Given the description of an element on the screen output the (x, y) to click on. 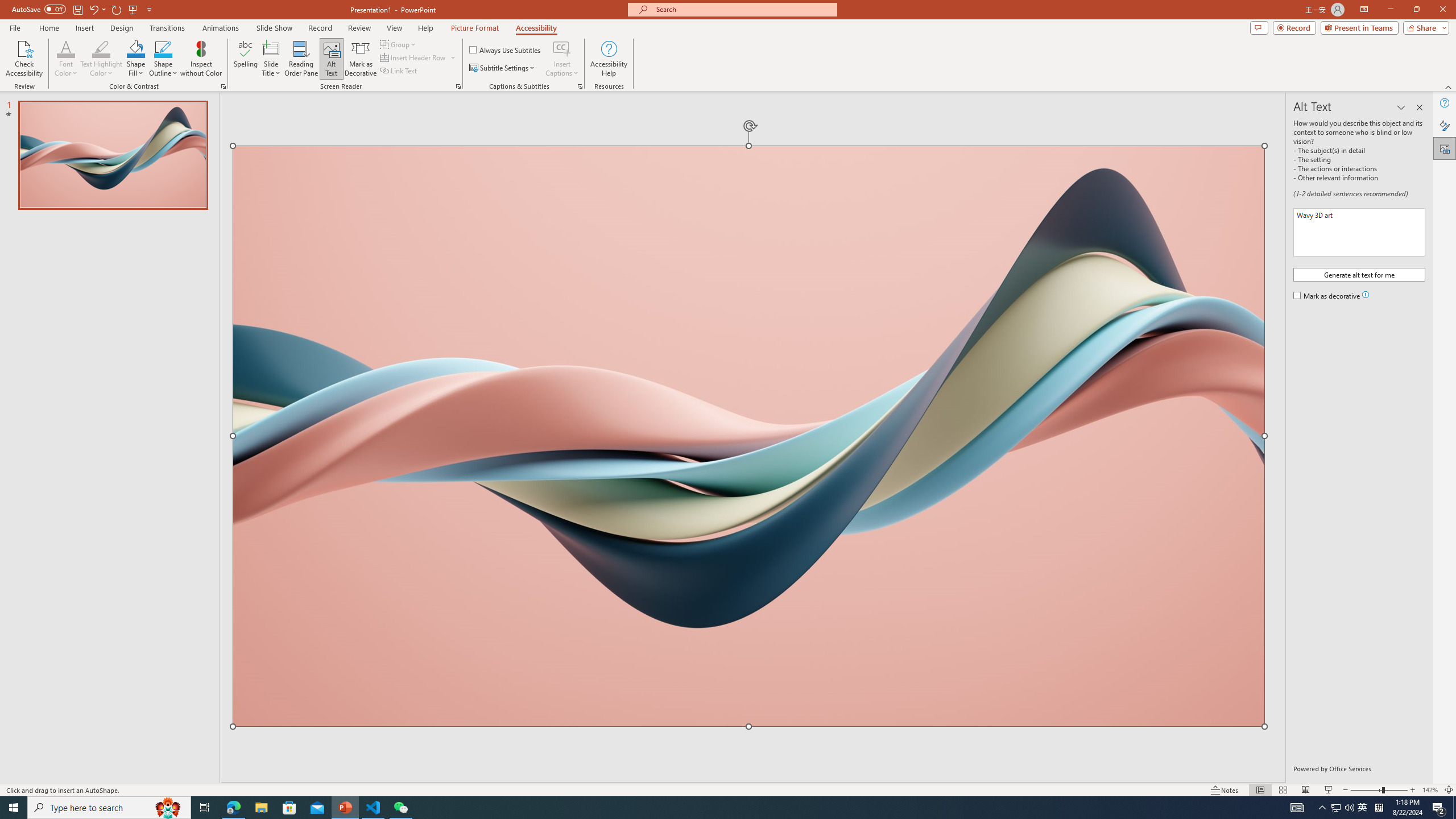
Captions & Subtitles (580, 85)
Wavy 3D art (747, 435)
Mark as decorative (1327, 296)
Accessibility Help (608, 58)
Mark as Decorative (360, 58)
